Given the description of an element on the screen output the (x, y) to click on. 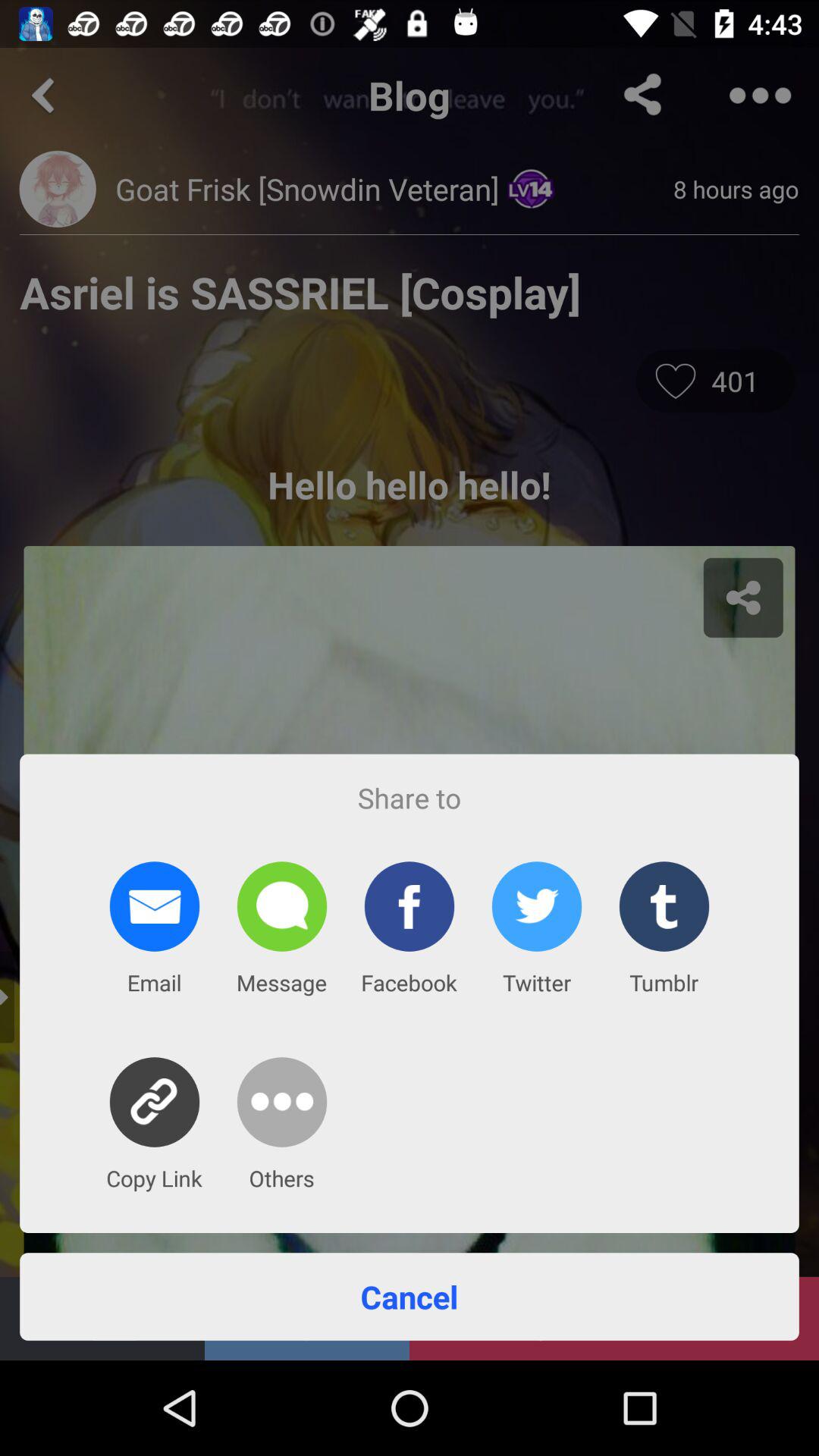
tap the icon at the top (409, 367)
